Given the description of an element on the screen output the (x, y) to click on. 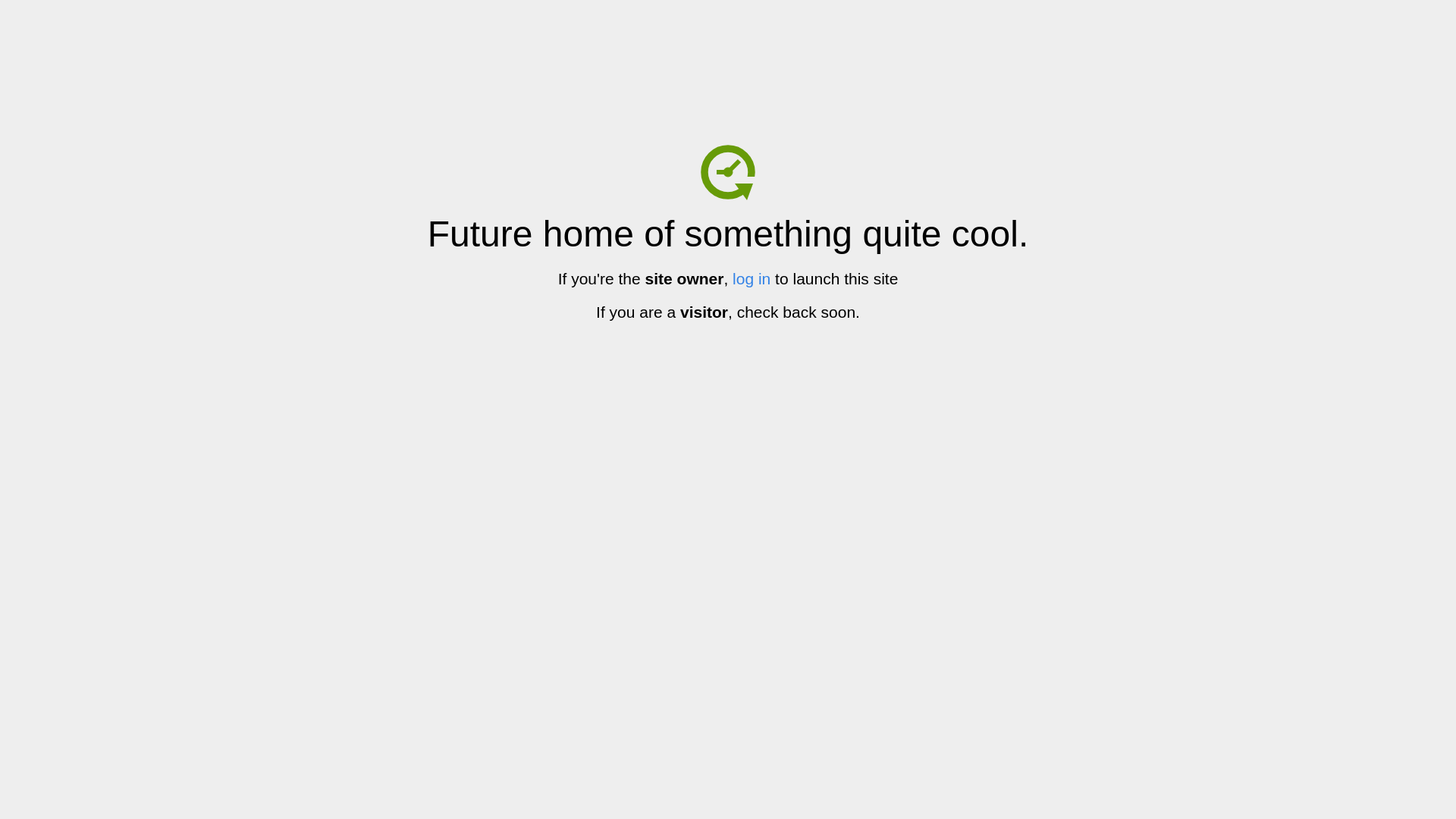
log in Element type: text (751, 278)
